Given the description of an element on the screen output the (x, y) to click on. 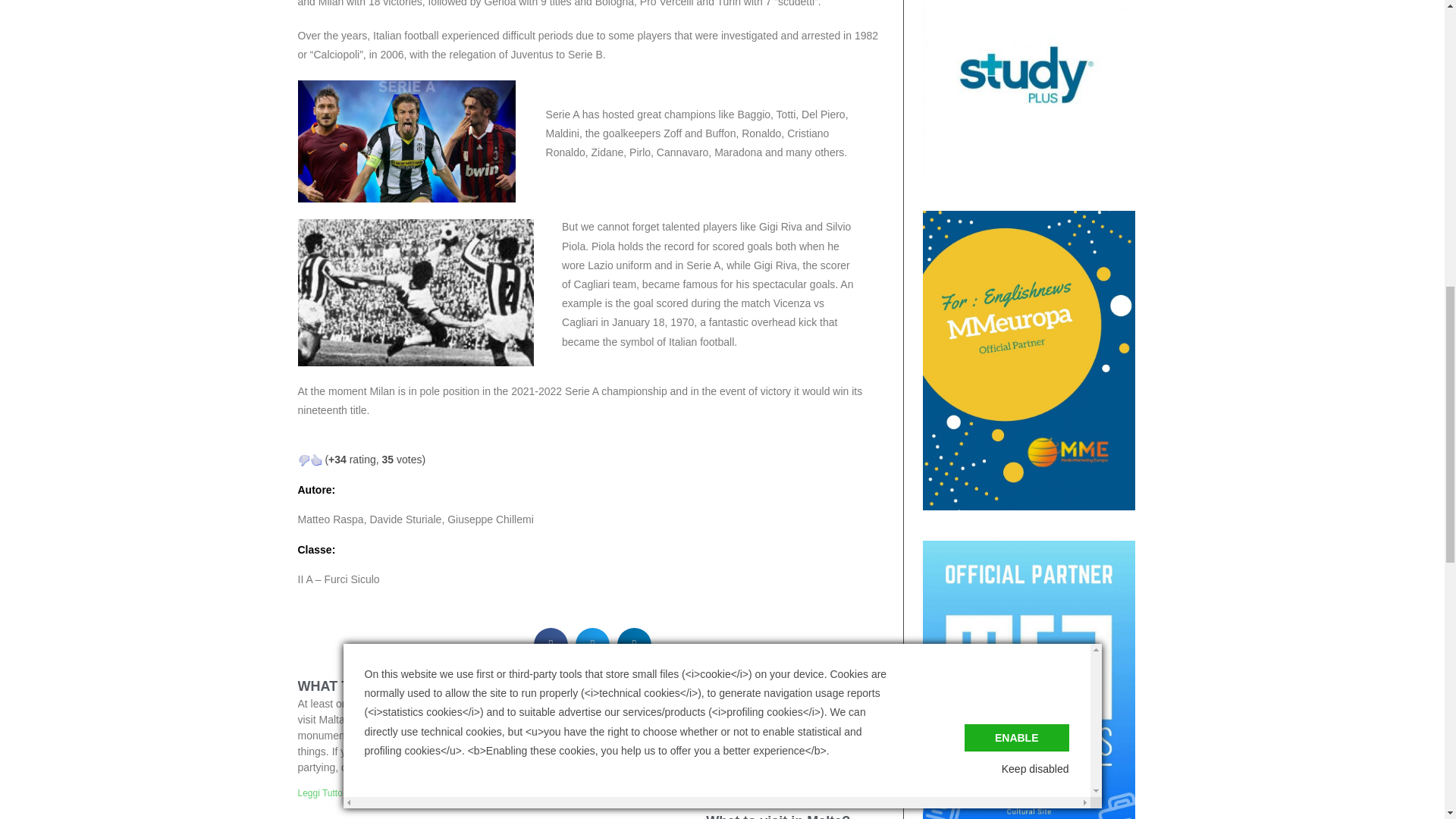
Vote Down (302, 460)
What to visit in Malta? (778, 816)
WHAT TO VISIT IN MALTA (380, 685)
Vote Up (314, 460)
